Given the description of an element on the screen output the (x, y) to click on. 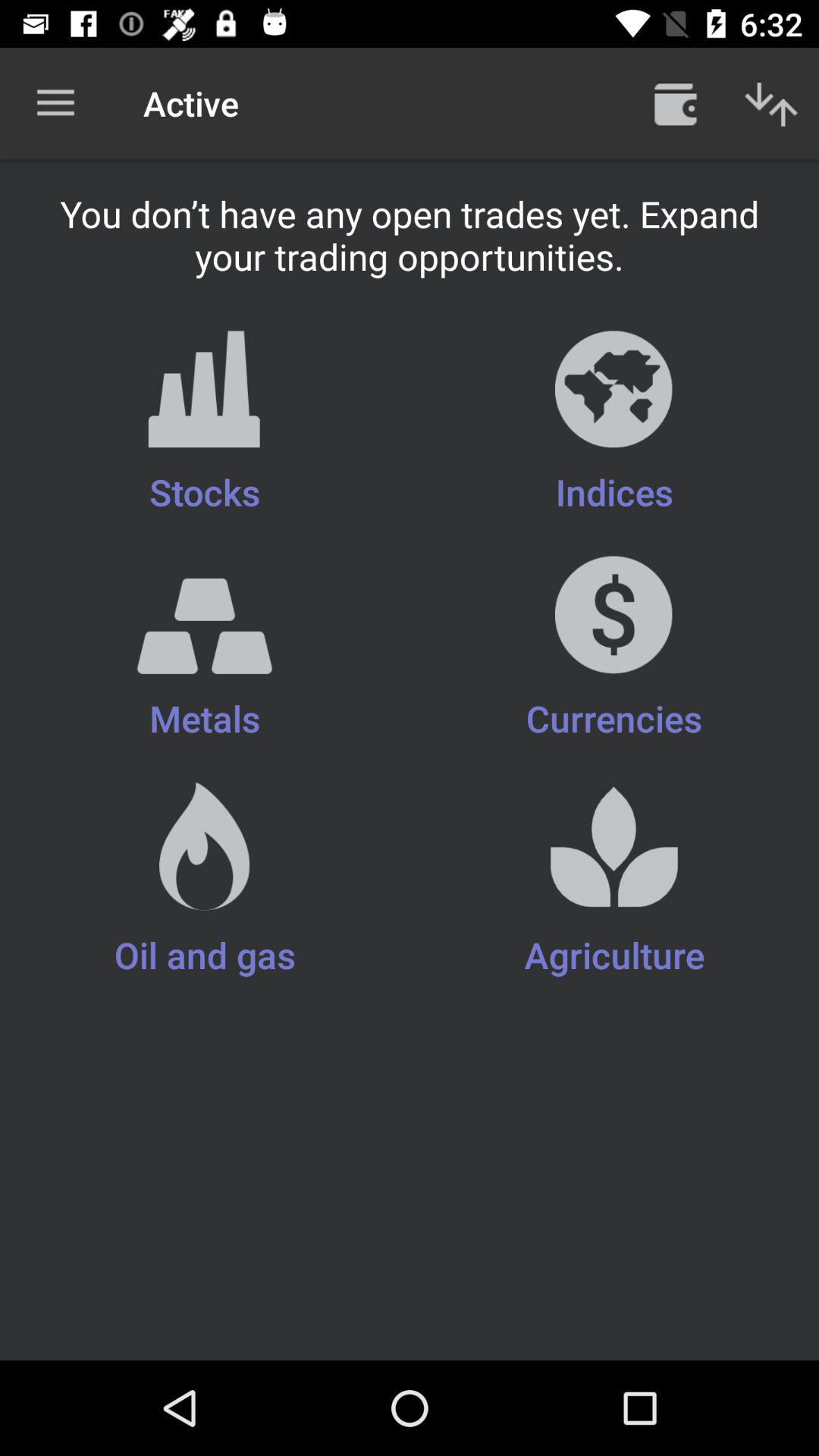
turn on the icon to the left of indices item (204, 423)
